Given the description of an element on the screen output the (x, y) to click on. 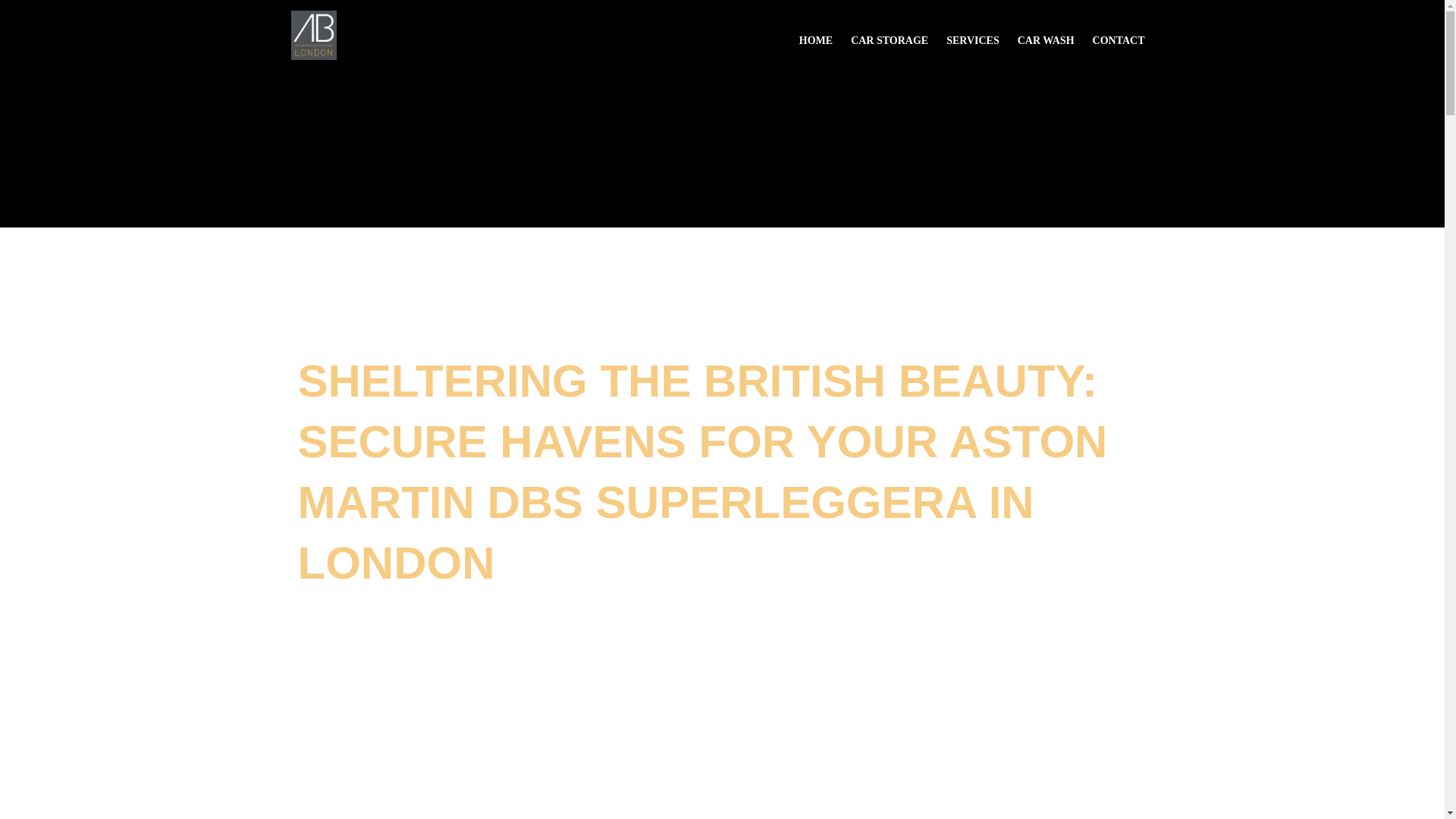
CONTACT (1118, 33)
SERVICES (973, 33)
CAR STORAGE (889, 33)
CAR WASH (1046, 33)
